Given the description of an element on the screen output the (x, y) to click on. 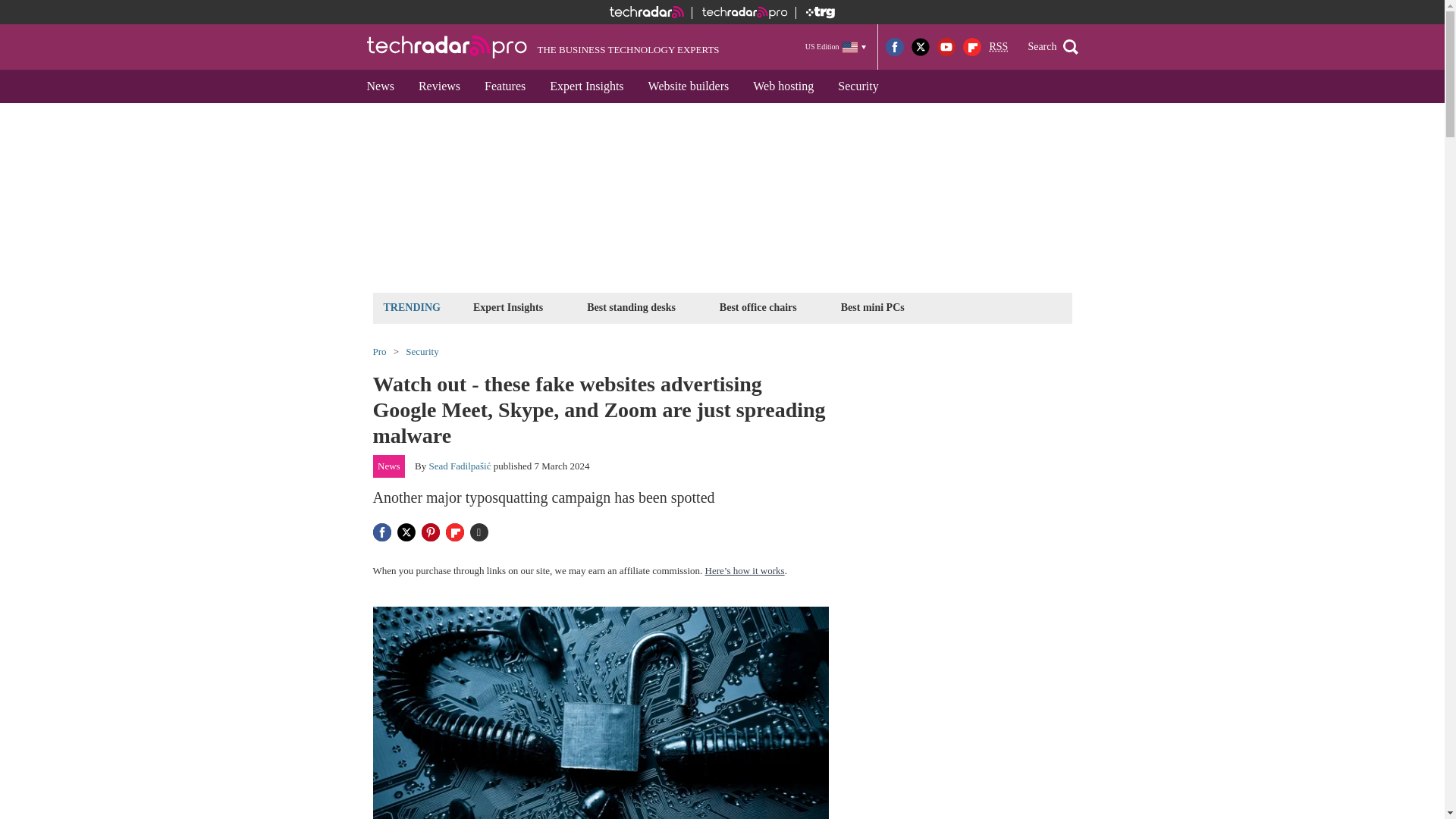
US Edition (836, 46)
Website builders (688, 86)
Expert Insights (585, 86)
Really Simple Syndication (997, 46)
Features (504, 86)
News (380, 86)
Web hosting (783, 86)
Best standing desks (630, 307)
Best office chairs (758, 307)
Security (857, 86)
